Given the description of an element on the screen output the (x, y) to click on. 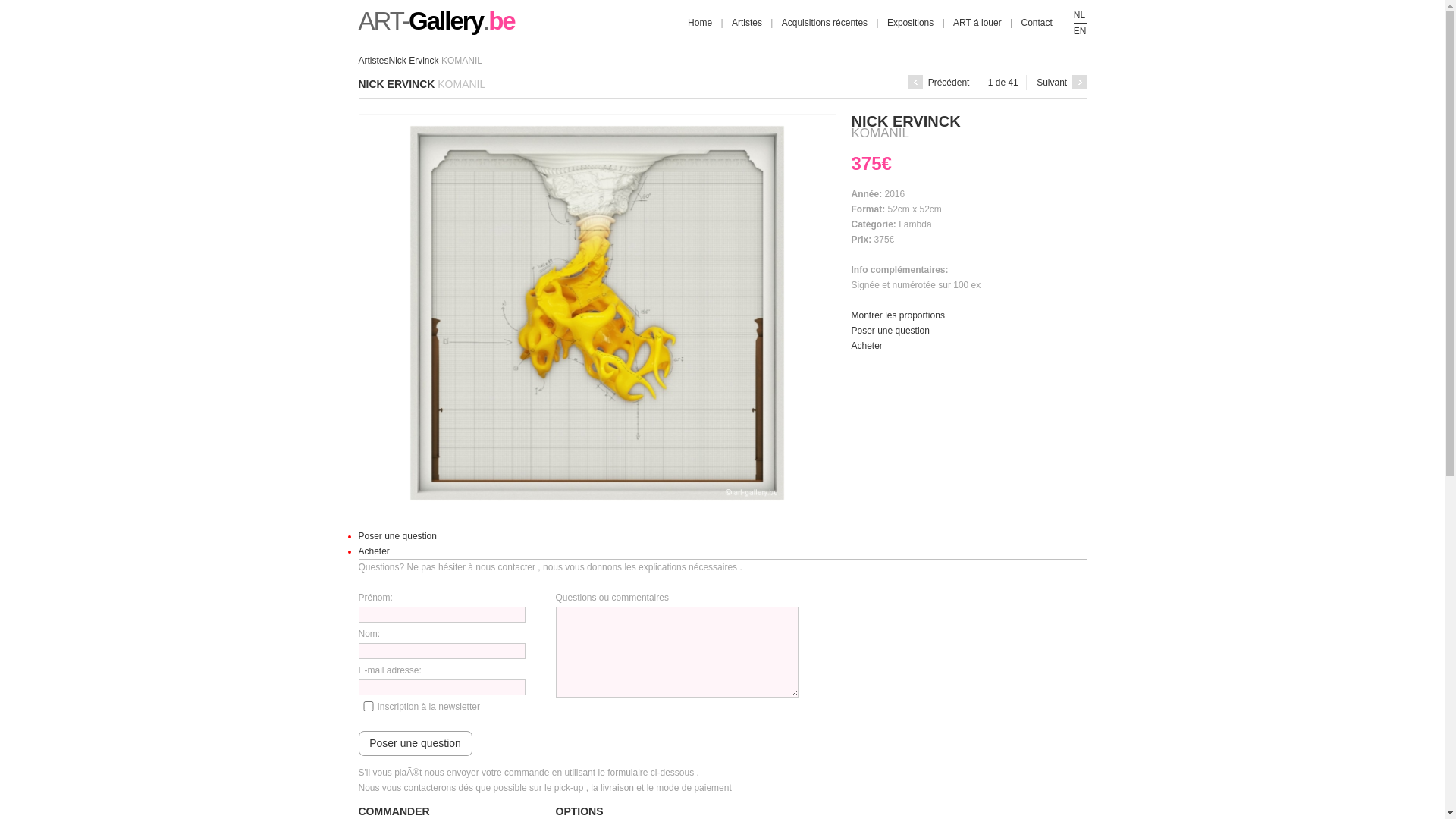
Montrer les proportions Element type: text (897, 315)
Contact Element type: text (1035, 22)
Home Element type: text (699, 22)
Artistes Element type: text (746, 22)
Expositions Element type: text (910, 22)
ART-Gallery.be Element type: text (435, 26)
Artistes Element type: text (372, 60)
Poser une question Element type: text (889, 330)
Acheter Element type: text (373, 551)
NL Element type: text (1079, 14)
Poser une question Element type: text (396, 535)
Poser une question Element type: text (414, 743)
Nick Ervinck Element type: text (414, 60)
EN Element type: text (1079, 30)
1 de 41 Element type: text (1003, 82)
Acheter Element type: text (865, 345)
